Given the description of an element on the screen output the (x, y) to click on. 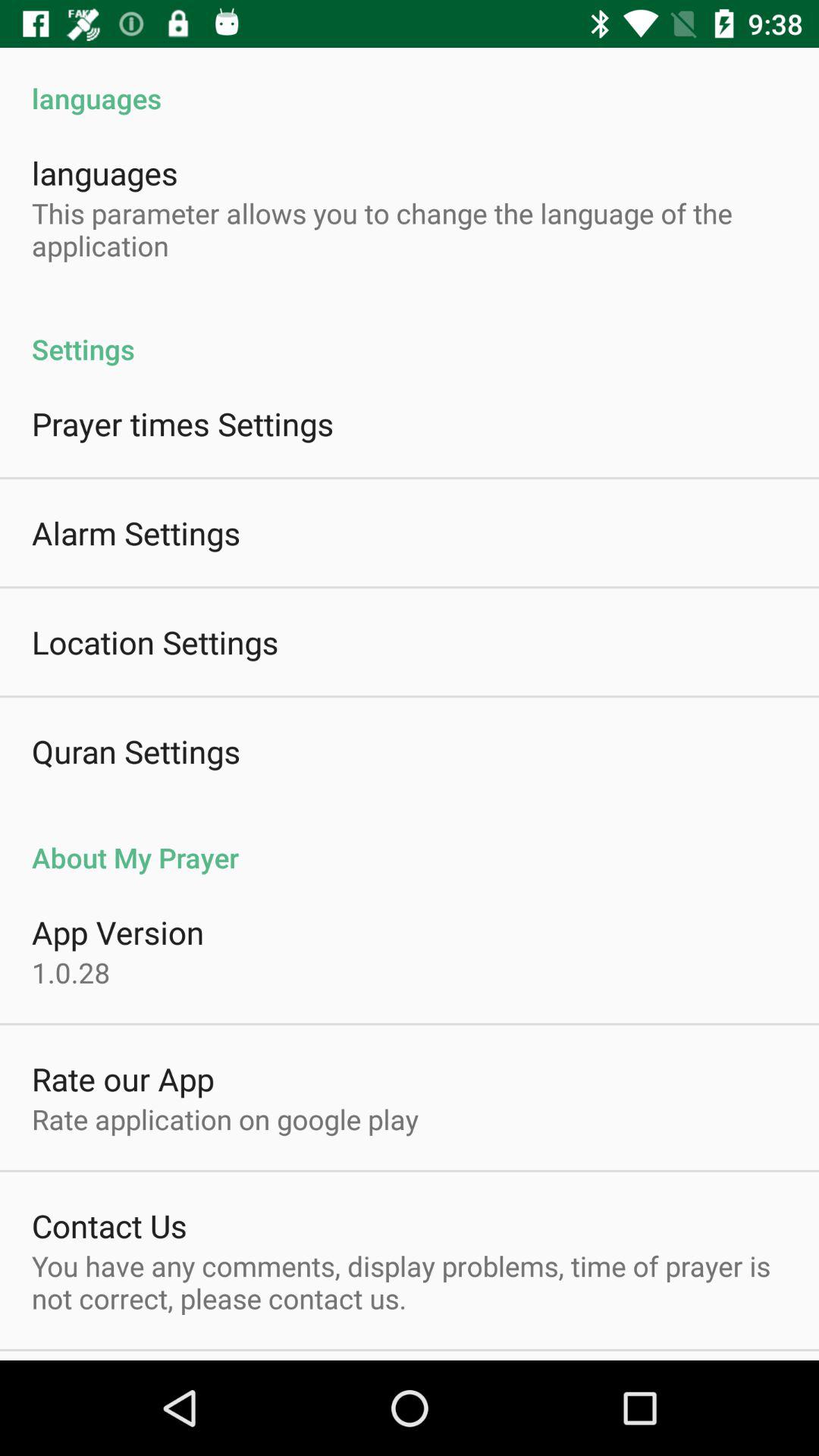
turn on icon below contact us item (409, 1282)
